Given the description of an element on the screen output the (x, y) to click on. 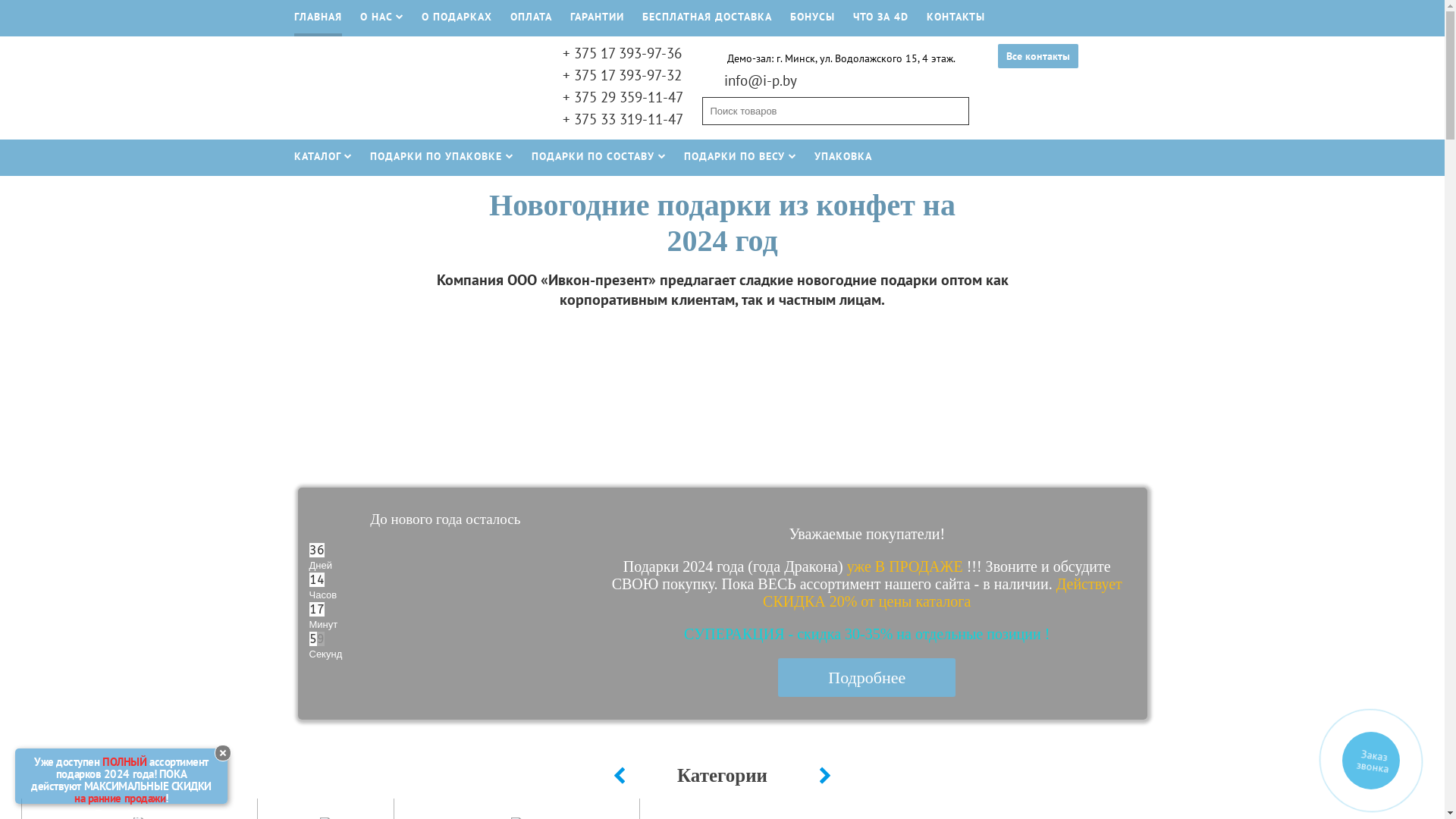
+ 375 29 359-11-47 Element type: text (622, 96)
+ 375 33 319-11-47 Element type: text (622, 118)
+ 375 17 393-97-32 Element type: text (621, 74)
+ 375 17 393-97-36 Element type: text (621, 52)
info@i-p.by Element type: text (759, 80)
